Given the description of an element on the screen output the (x, y) to click on. 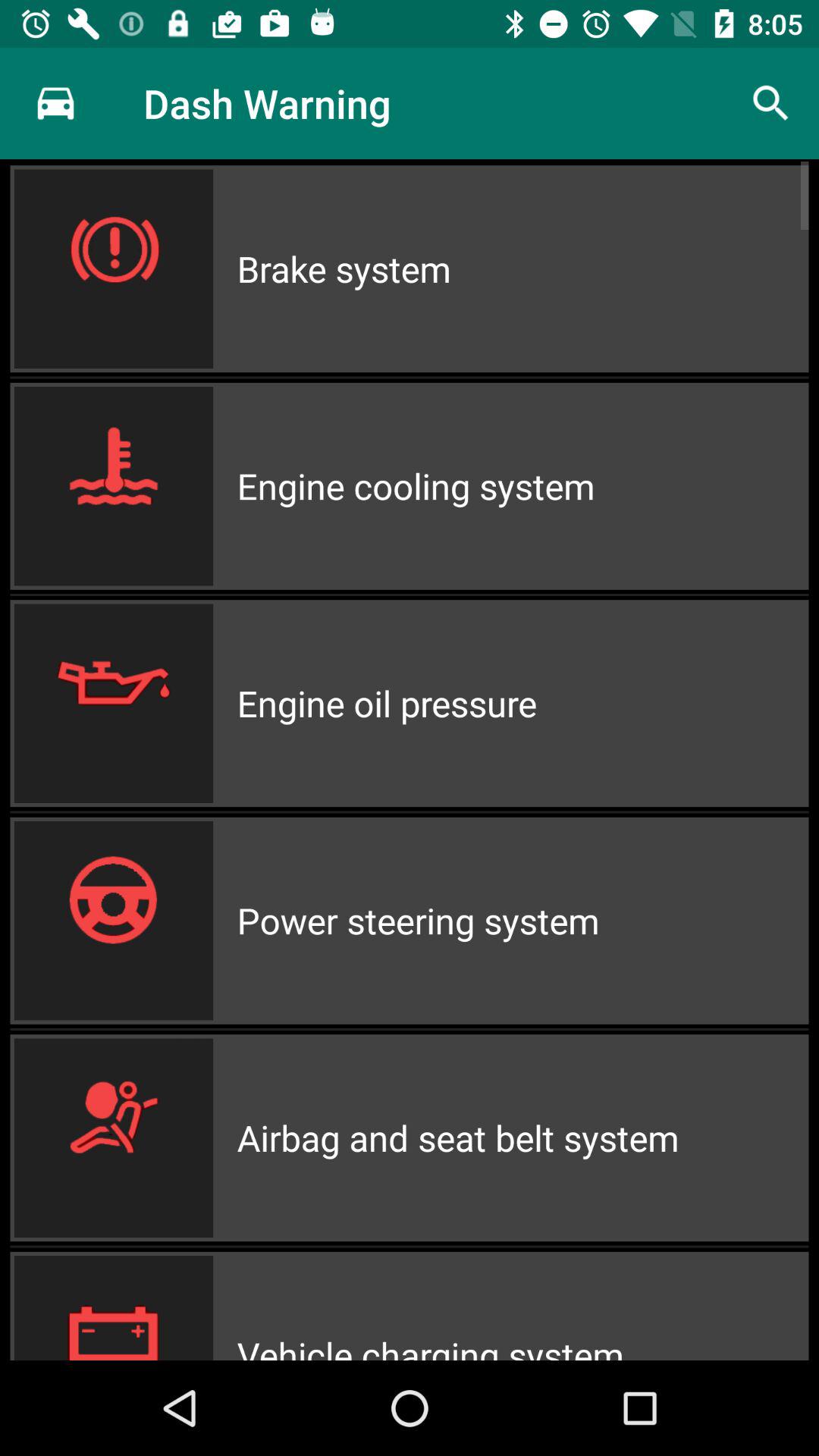
click the vehicle charging system icon (522, 1305)
